Given the description of an element on the screen output the (x, y) to click on. 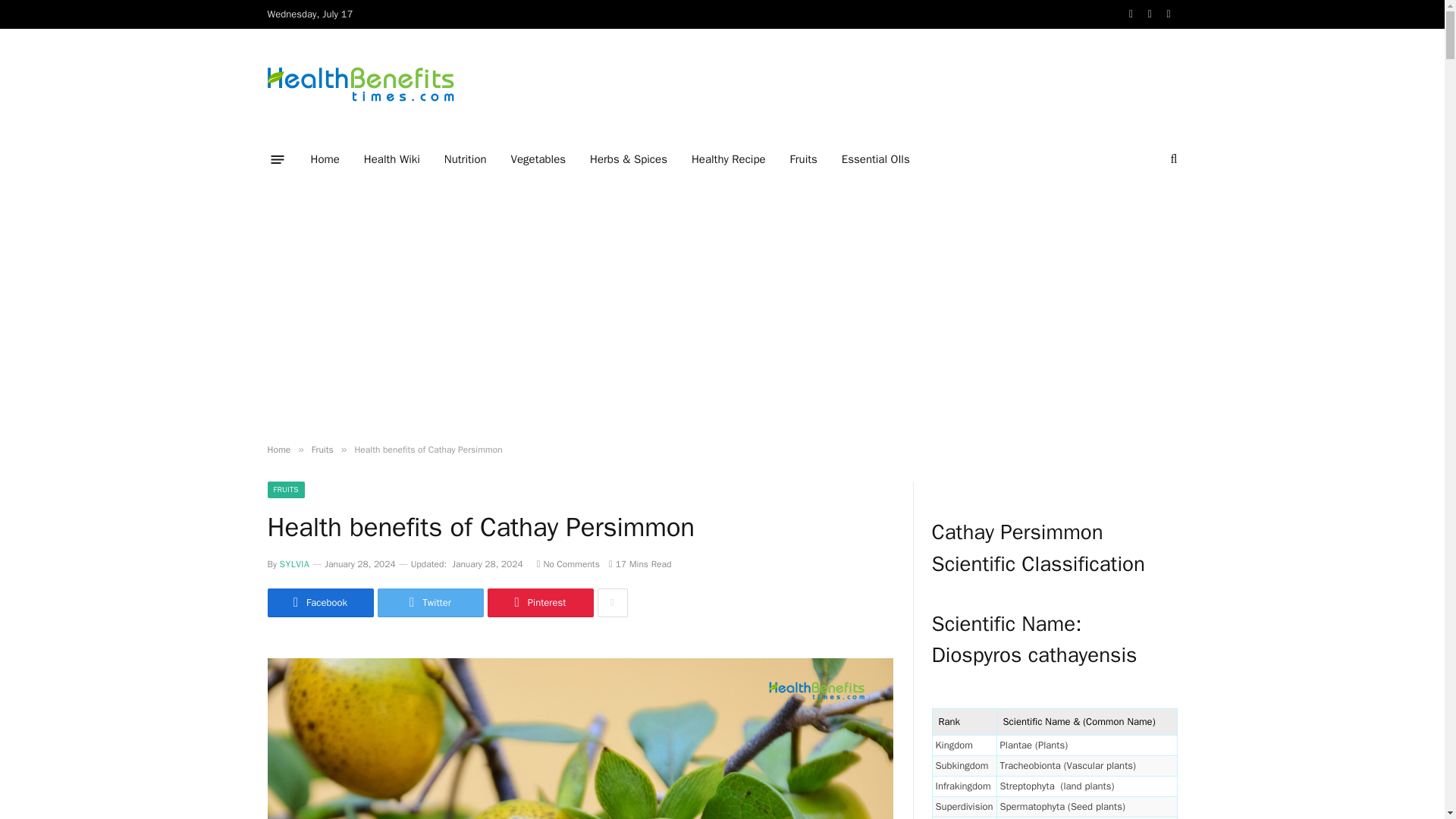
Healthy Recipe (728, 159)
Search (1172, 159)
Essential OIls (875, 159)
Pinterest (539, 602)
Health Benefits (359, 83)
Pinterest (1168, 14)
Vegetables (538, 159)
Share on Twitter (430, 602)
Show More Social Sharing (611, 602)
Fruits (322, 449)
Twitter (430, 602)
Facebook (1131, 14)
Twitter (1149, 14)
SYLVIA (294, 563)
No Comments (568, 563)
